Given the description of an element on the screen output the (x, y) to click on. 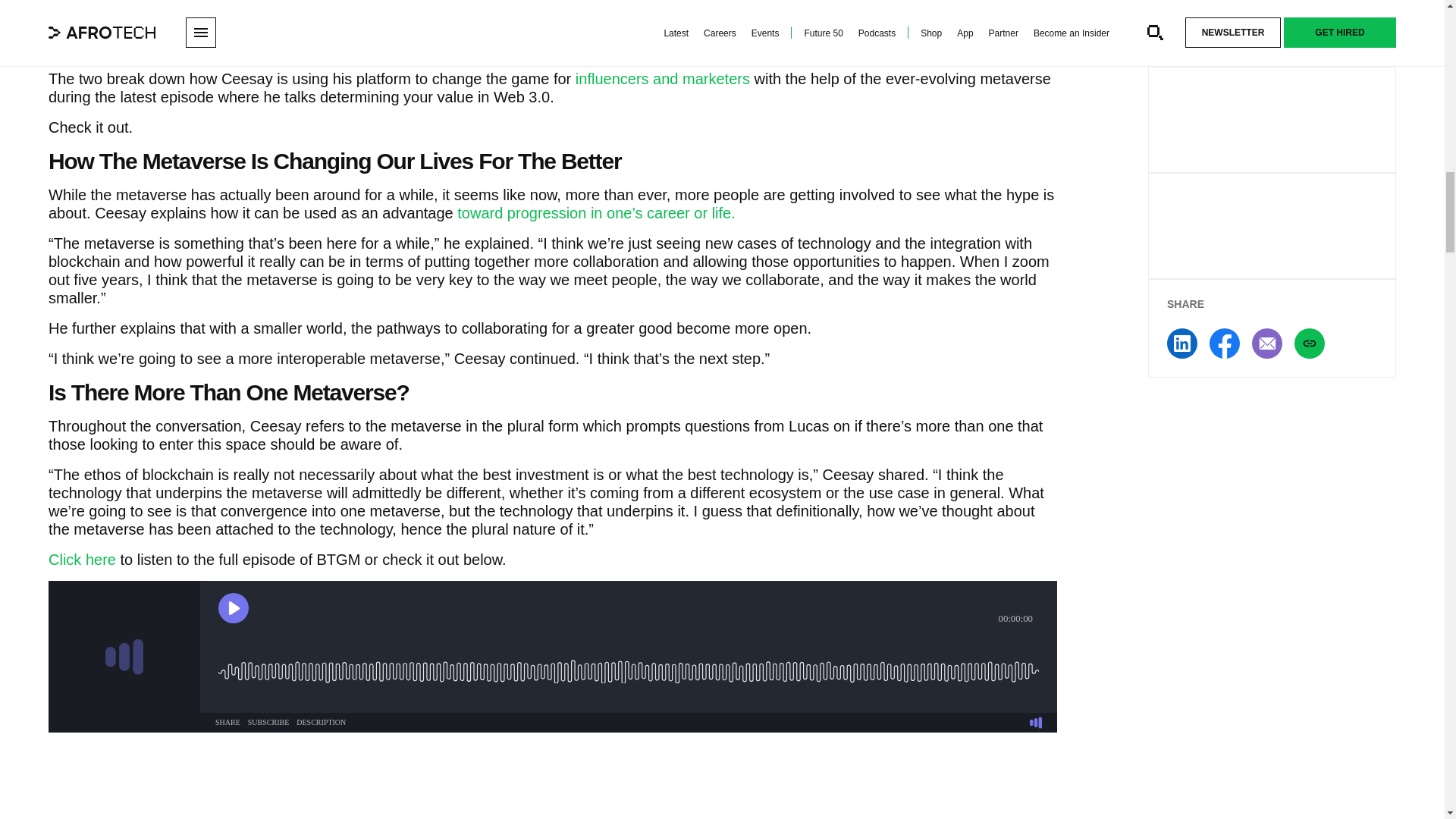
Click here (82, 558)
influencers and marketers (662, 77)
